Given the description of an element on the screen output the (x, y) to click on. 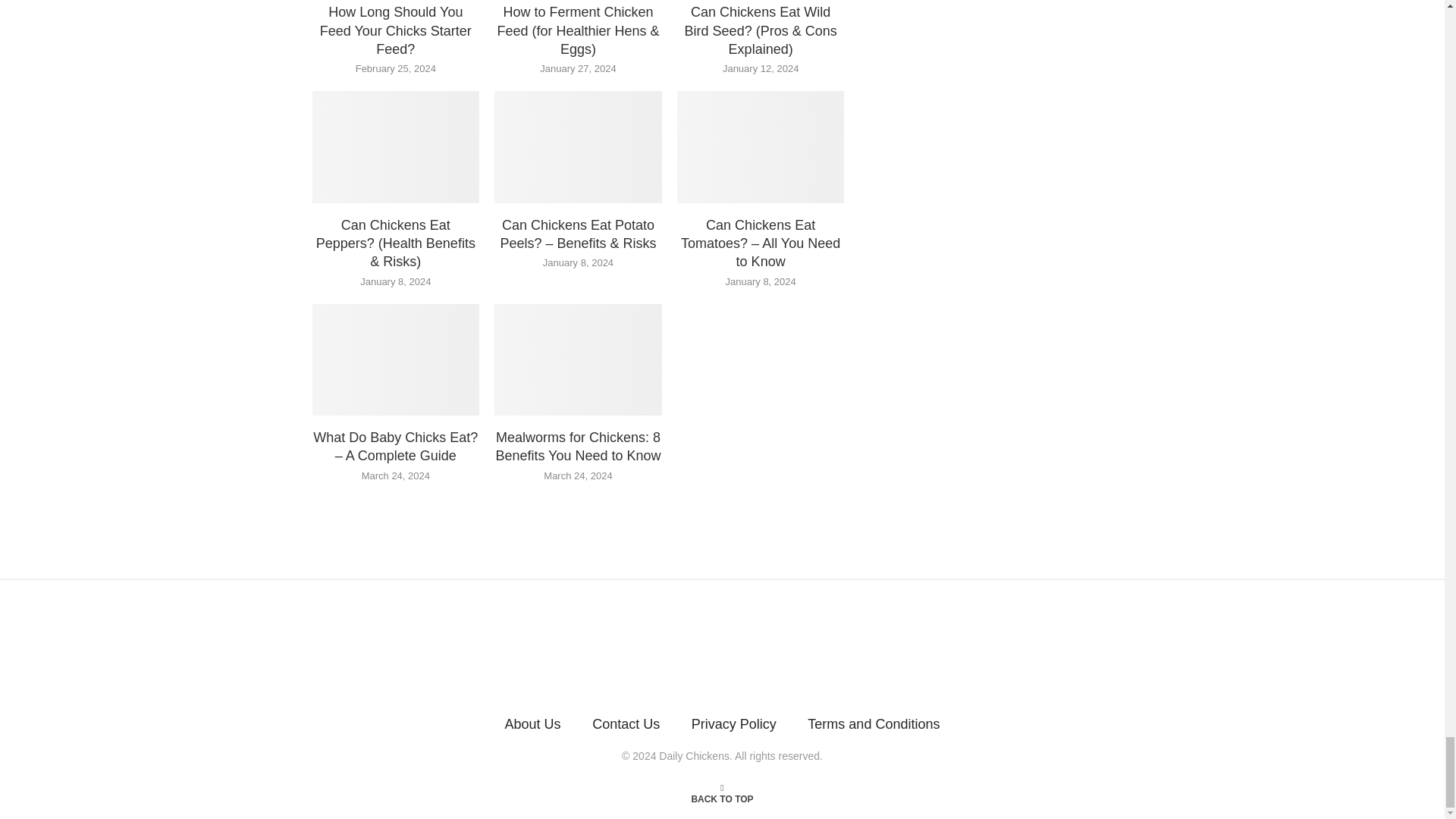
Mealworms for Chickens: 8 Benefits You Need to Know (578, 359)
